Given the description of an element on the screen output the (x, y) to click on. 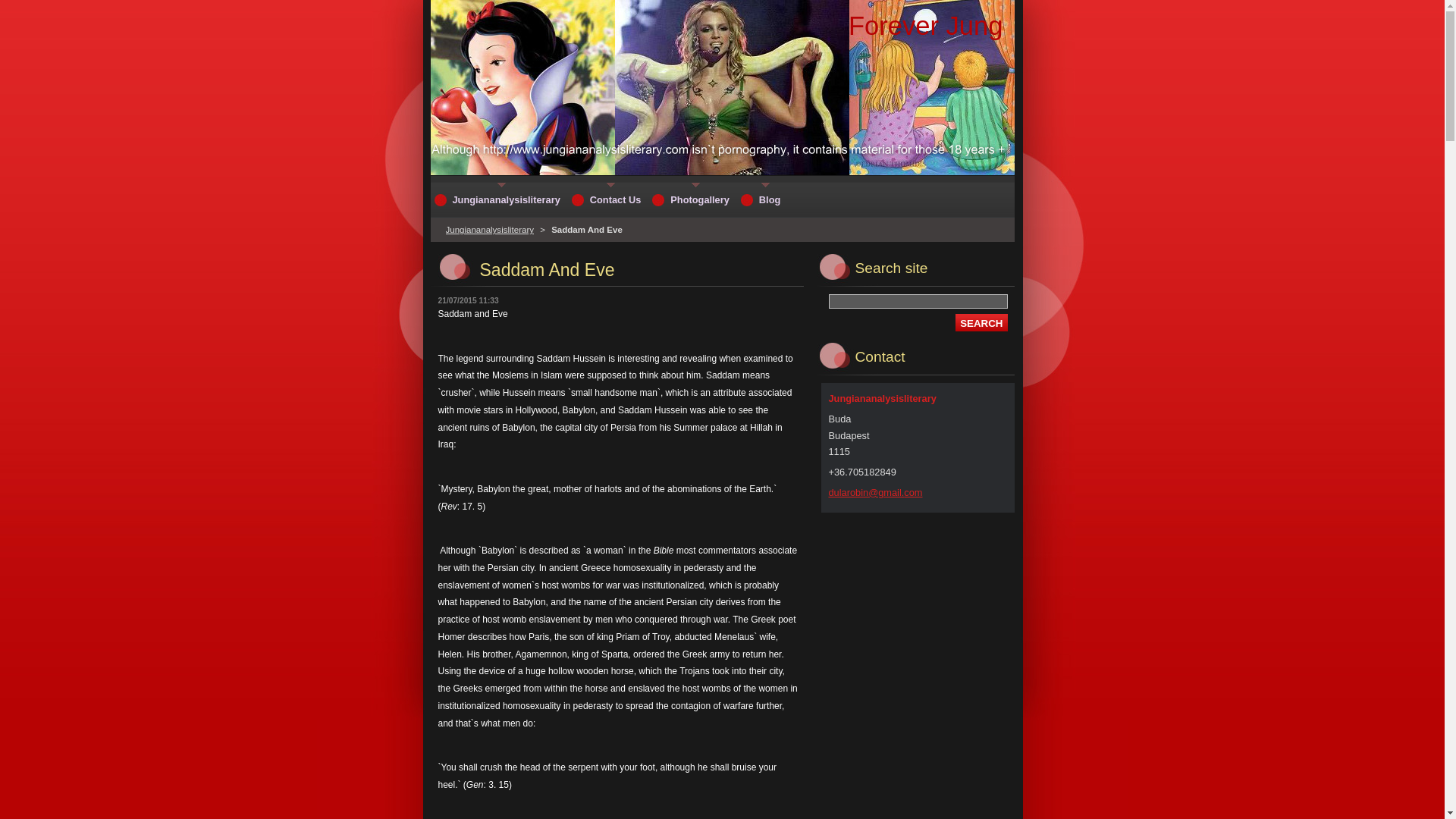
Blog (761, 199)
Jungiananalysisliterary (498, 199)
Search (981, 322)
Forever Jung (925, 25)
Go to Homepage. (925, 25)
Contact Us (608, 199)
Photogallery (691, 199)
Search (981, 322)
Jungiananalysisliterary (489, 229)
